Given the description of an element on the screen output the (x, y) to click on. 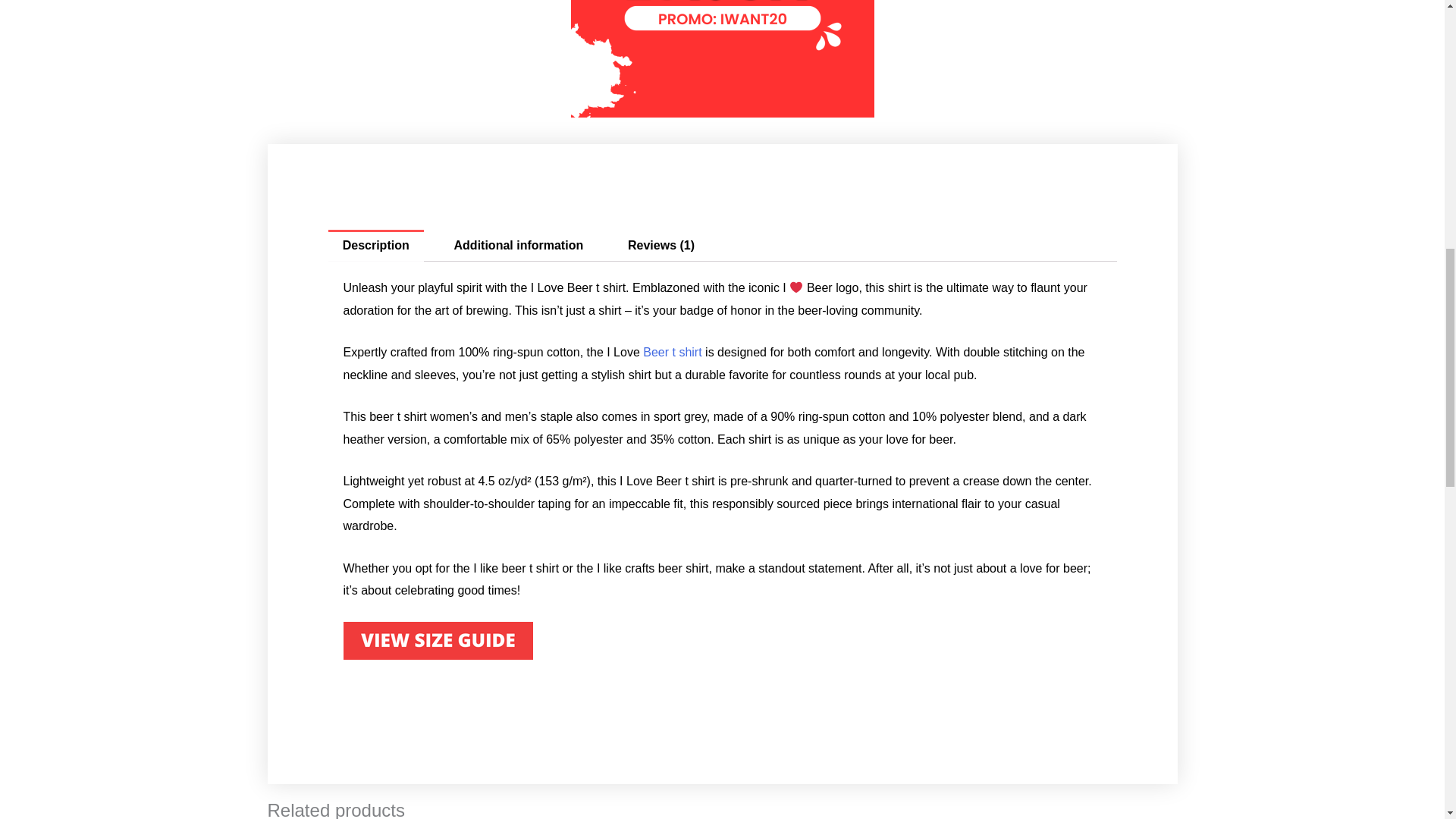
I Love Beer T-Shirt (437, 640)
